Given the description of an element on the screen output the (x, y) to click on. 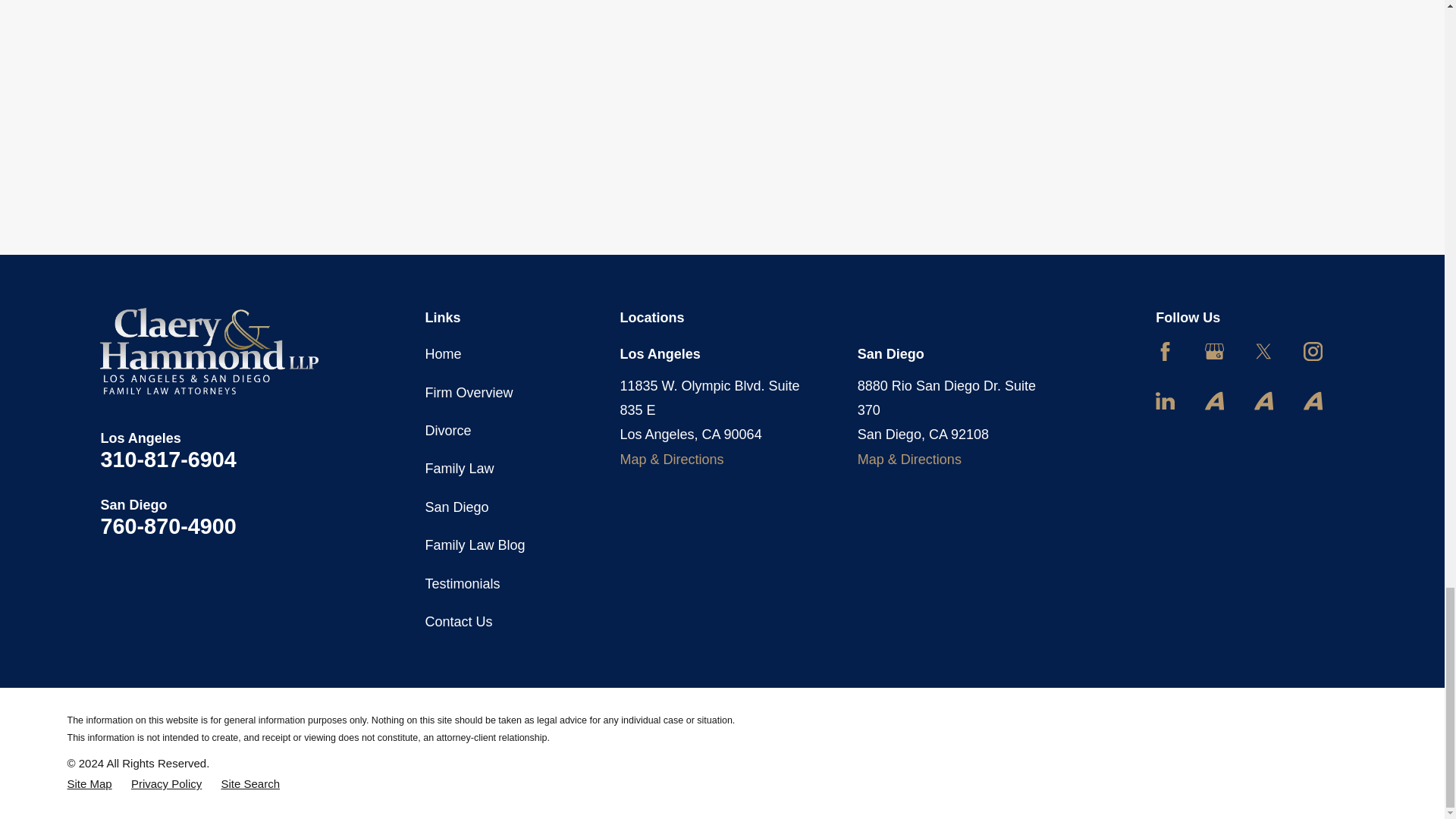
Home (209, 350)
Twitter (1262, 351)
Instagram (1312, 351)
Google Business Profile (1214, 351)
Facebook (1165, 351)
